Given the description of an element on the screen output the (x, y) to click on. 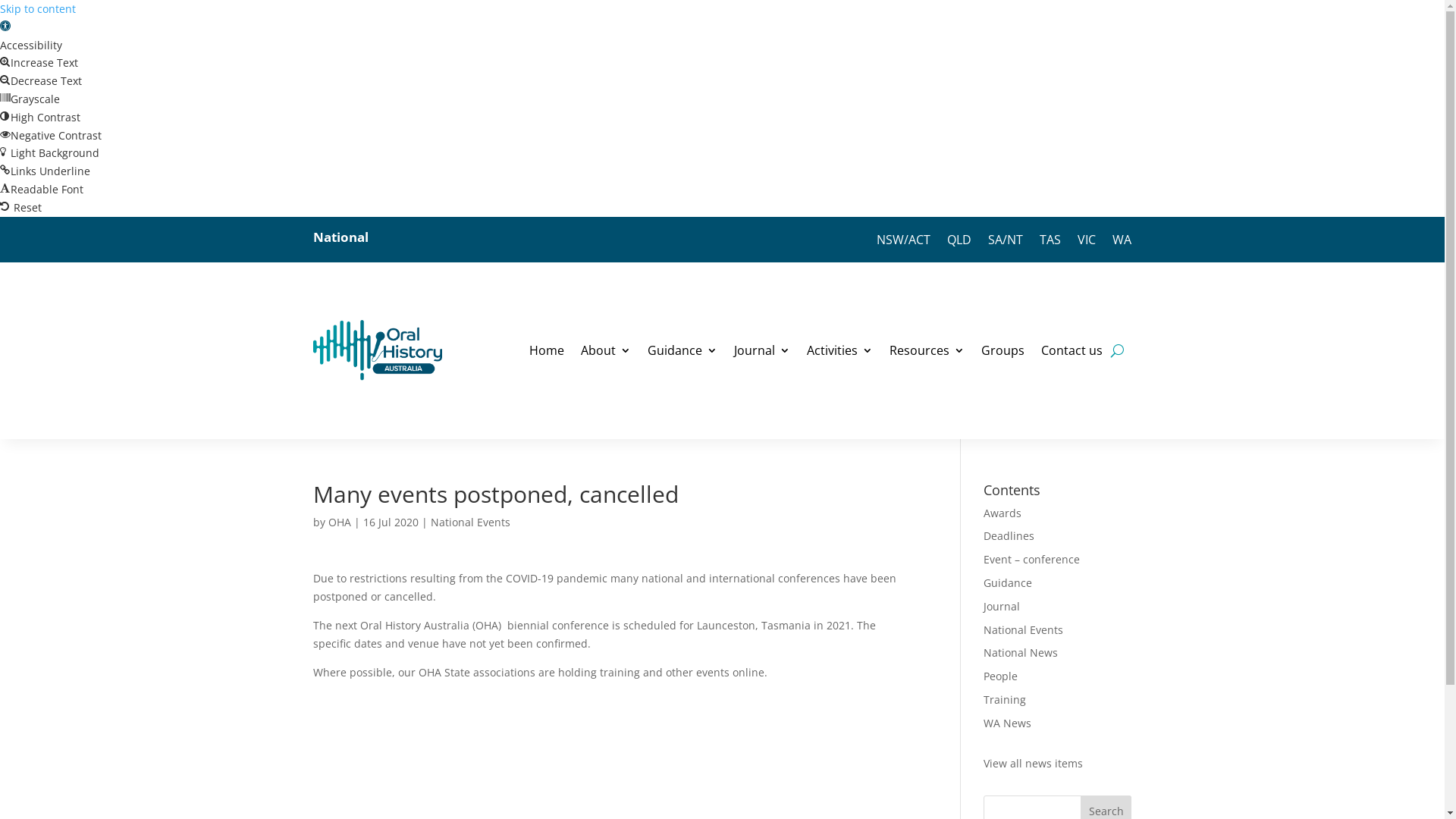
Journal Element type: text (1001, 606)
People Element type: text (1000, 675)
SA/NT Element type: text (1005, 242)
National News Element type: text (1020, 652)
Decrease Text Element type: text (40, 80)
TAS Element type: text (1049, 242)
Links Underline Element type: text (45, 170)
WA News Element type: text (1007, 722)
Guidance Element type: text (1007, 582)
Skip to content Element type: text (37, 8)
OHA Element type: text (338, 521)
Reset Element type: text (20, 207)
Home Element type: text (546, 350)
About Element type: text (605, 350)
National Events Element type: text (1023, 628)
Negative Contrast Element type: text (50, 135)
Light Background Element type: text (49, 152)
Deadlines Element type: text (1008, 535)
National Events Element type: text (470, 521)
Contact us Element type: text (1070, 350)
Training Element type: text (1004, 699)
QLD Element type: text (959, 242)
Groups Element type: text (1002, 350)
NSW/ACT Element type: text (903, 242)
Journal Element type: text (762, 350)
Activities Element type: text (839, 350)
High Contrast Element type: text (40, 116)
Awards Element type: text (1002, 512)
View all news items Element type: text (1032, 763)
Readable Font Element type: text (41, 189)
Open toolbar Element type: text (5, 26)
Grayscale Element type: text (29, 98)
Resources Element type: text (925, 350)
Increase Text Element type: text (39, 62)
WA Element type: text (1121, 242)
Guidance Element type: text (682, 350)
VIC Element type: text (1086, 242)
